Given the description of an element on the screen output the (x, y) to click on. 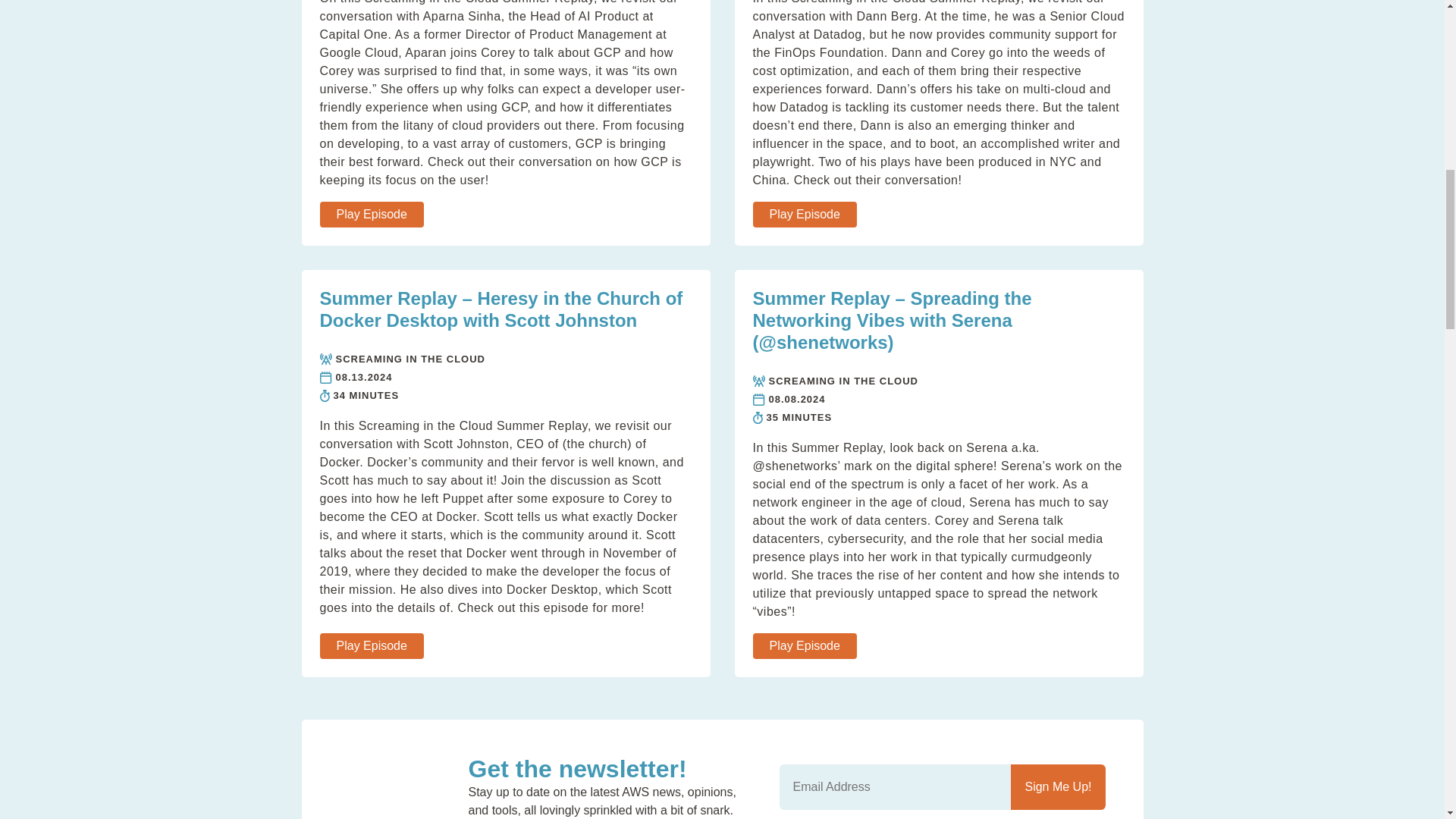
Sign Me Up! (1057, 786)
Play Episode (371, 214)
Play Episode (804, 214)
Play Episode (804, 646)
Play Episode (371, 646)
